Given the description of an element on the screen output the (x, y) to click on. 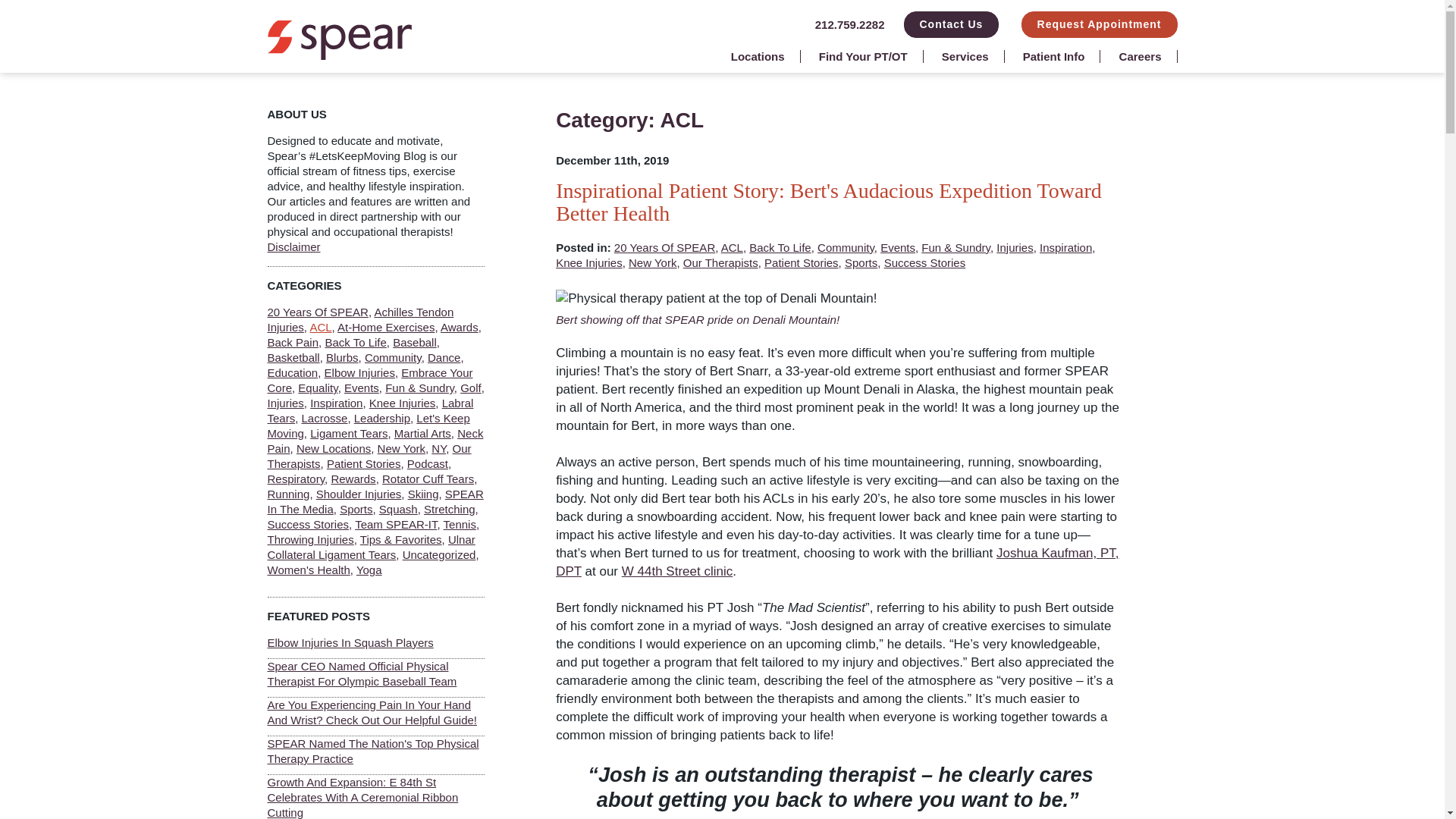
Careers (1140, 56)
20 Years Of SPEAR (317, 311)
Disclaimer (293, 246)
Services (965, 56)
212.759.2282 (850, 23)
Achilles Tendon Injuries (359, 319)
Locations (758, 56)
Spear center logo (338, 55)
Contact Us (951, 24)
